Given the description of an element on the screen output the (x, y) to click on. 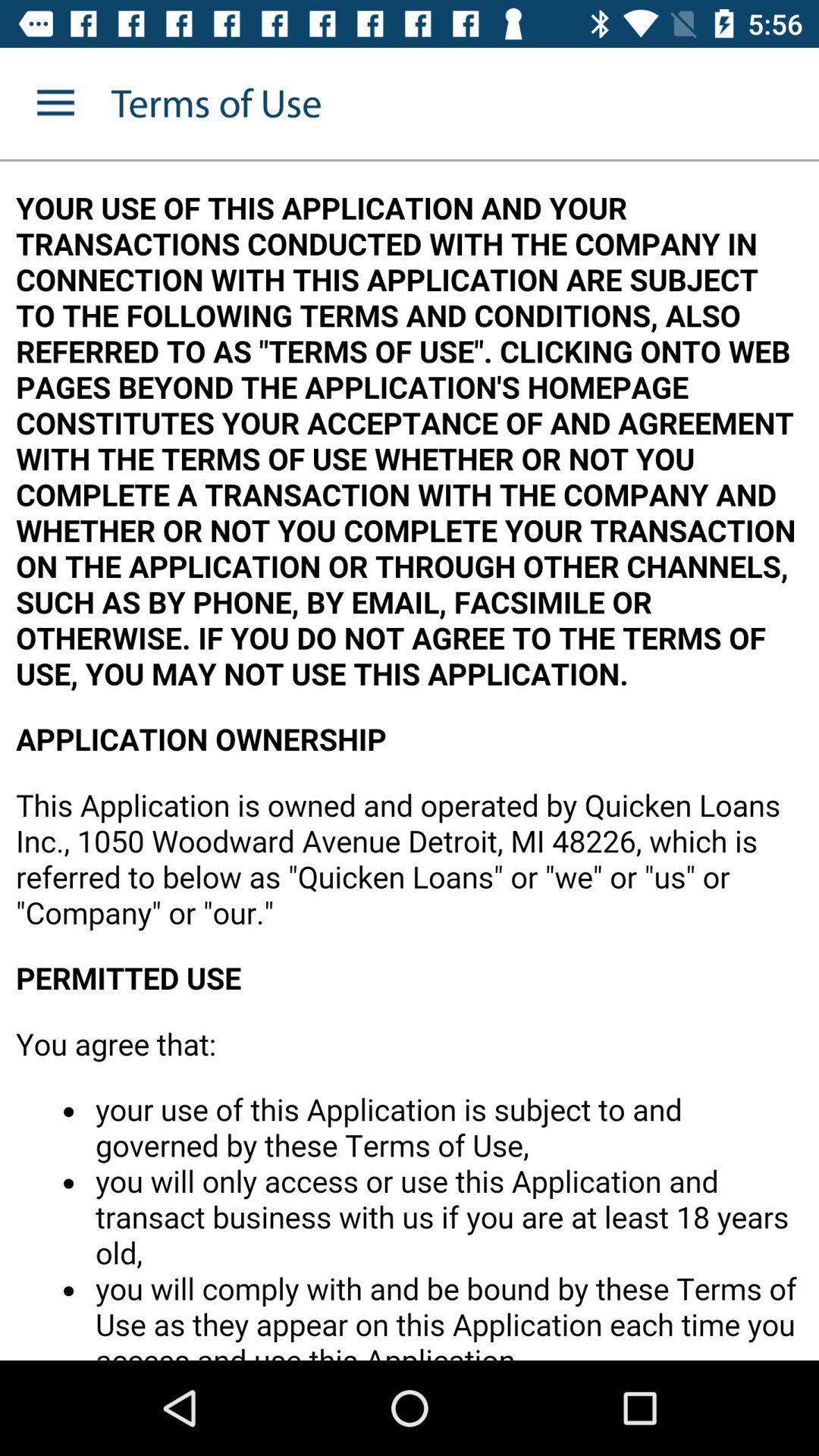
advertisement page (409, 760)
